Given the description of an element on the screen output the (x, y) to click on. 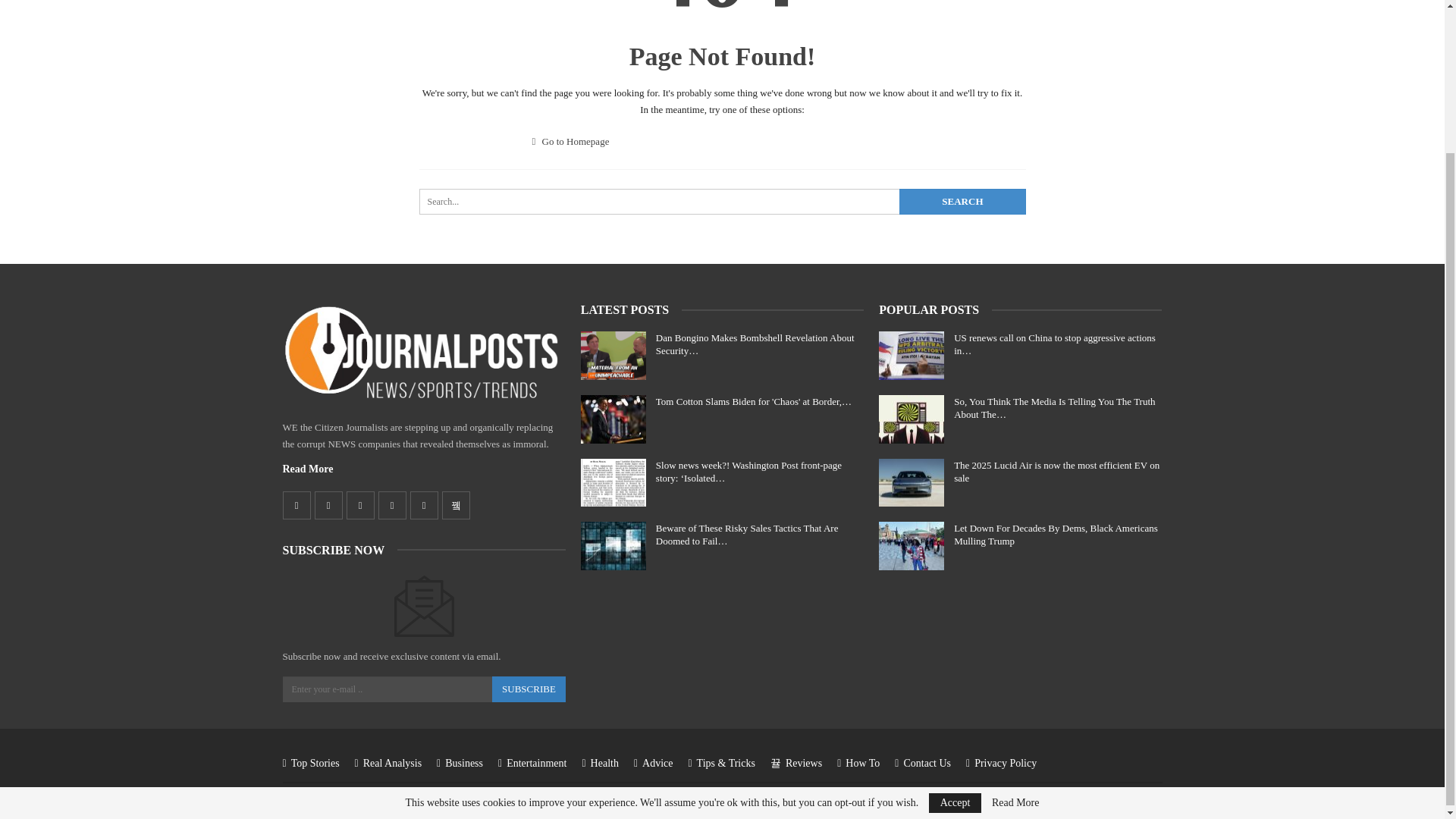
Read More (307, 469)
Search (962, 201)
Go to Homepage (571, 141)
Search (962, 201)
The 2025 Lucid Air is now the most efficient EV on sale (911, 481)
Let Down For Decades By Dems, Black Americans Mulling Trump (911, 545)
Search for: (722, 201)
Search (962, 201)
